Given the description of an element on the screen output the (x, y) to click on. 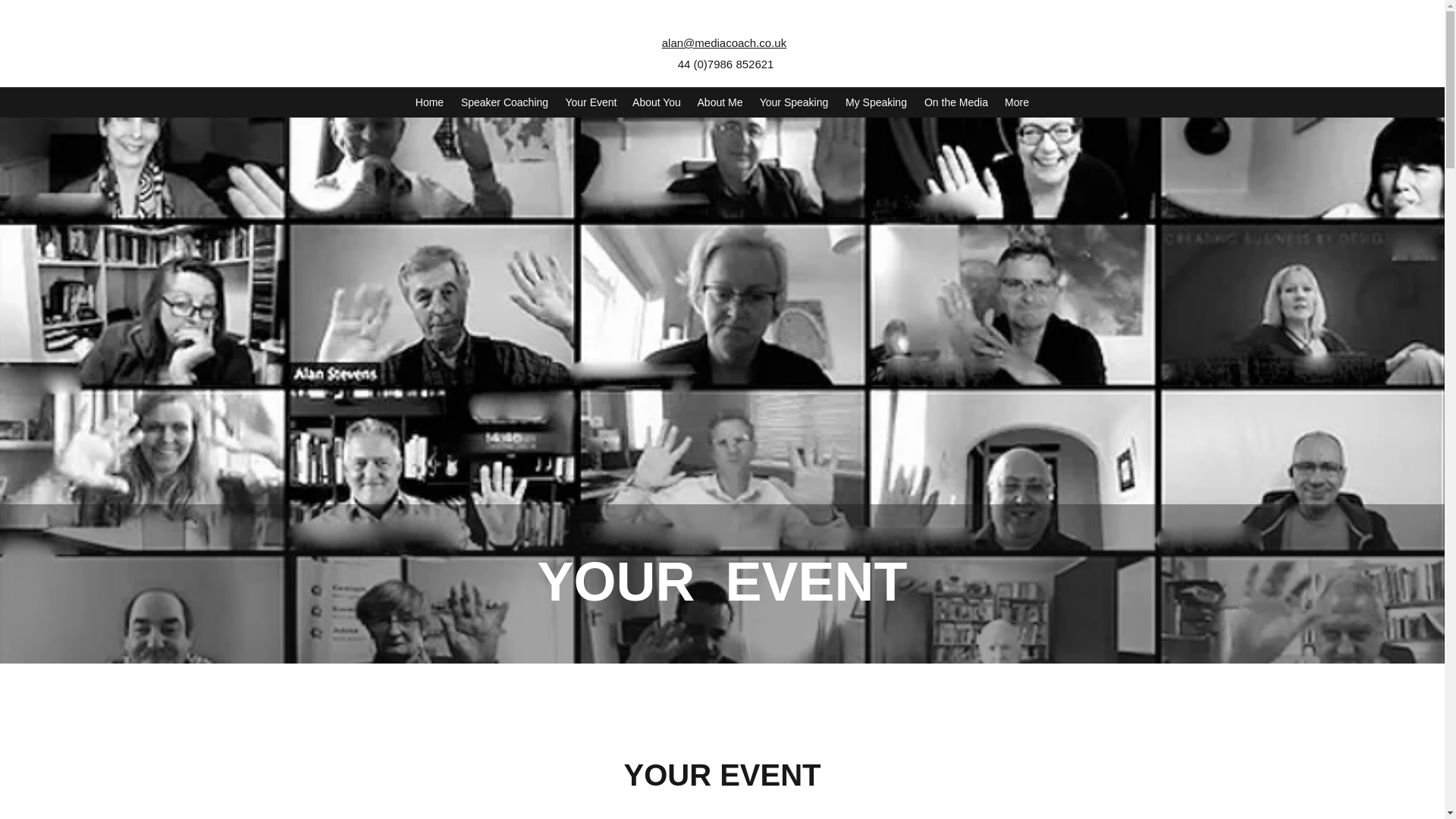
My Speaking (875, 101)
About Me (719, 101)
Your Speaking (793, 101)
About You (656, 101)
Speaker Coaching (504, 101)
Your Event (590, 101)
Home (429, 101)
On the Media (955, 101)
